Given the description of an element on the screen output the (x, y) to click on. 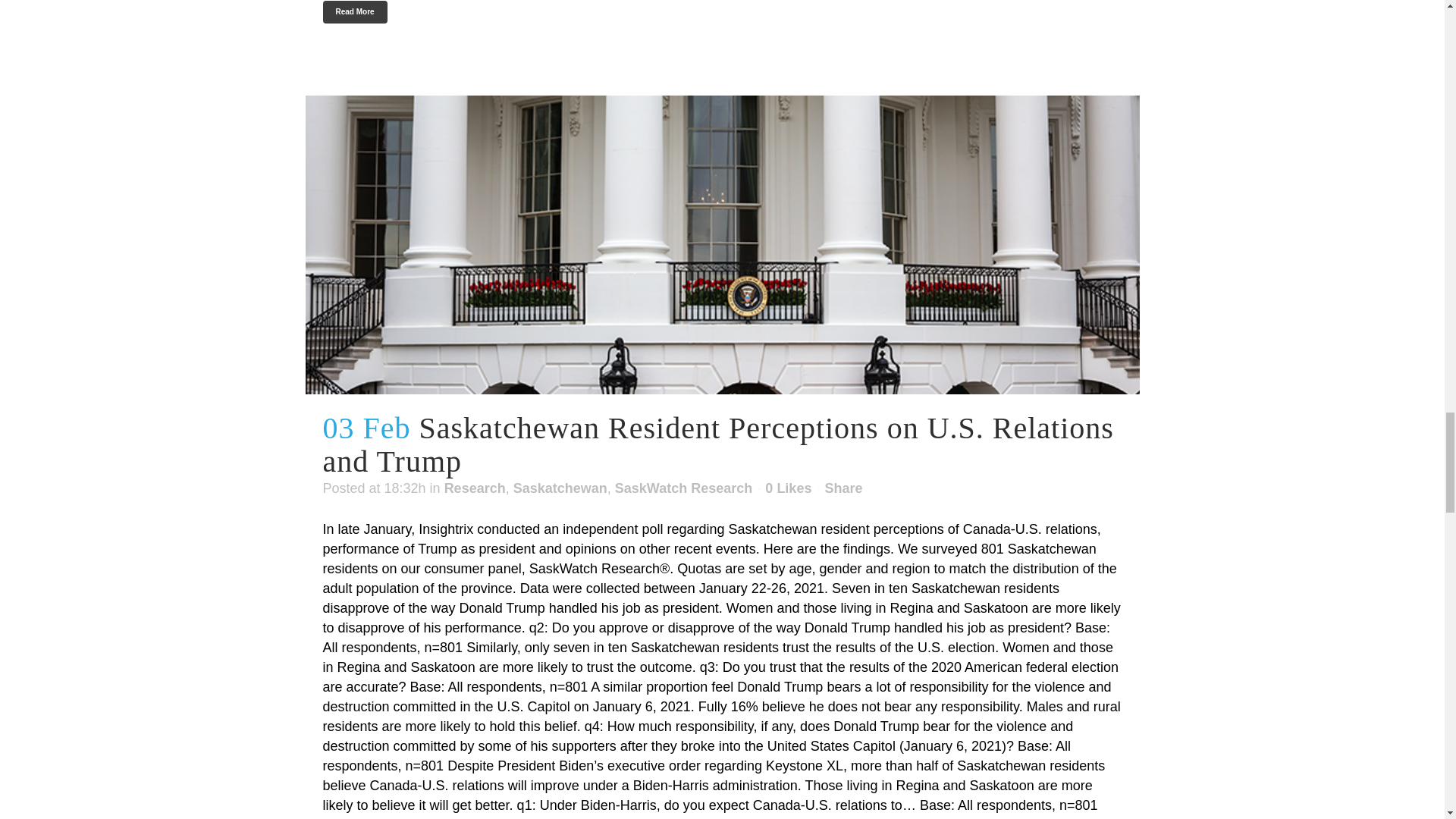
Like this (787, 488)
